Given the description of an element on the screen output the (x, y) to click on. 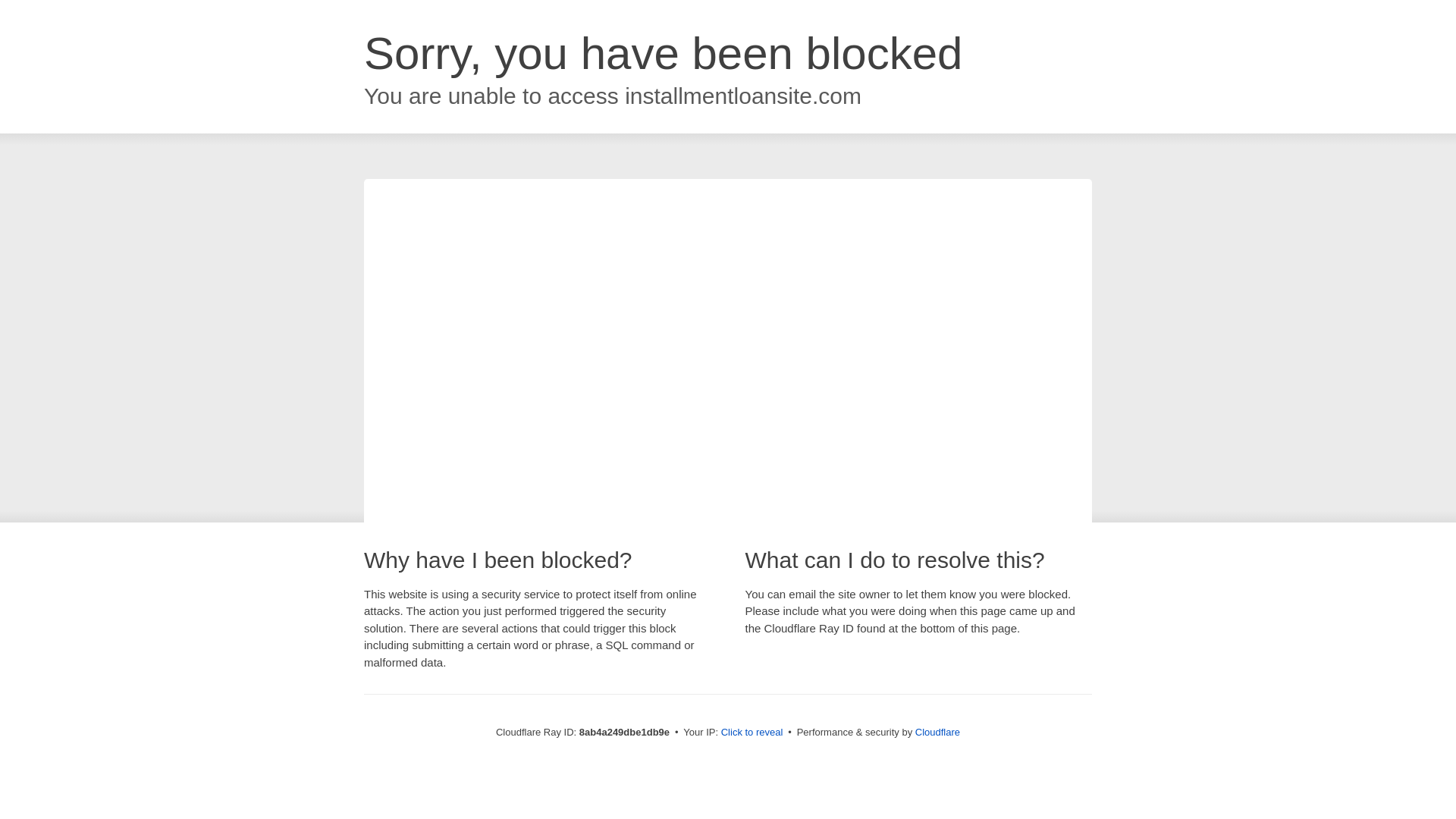
Click to reveal (751, 732)
Cloudflare (937, 731)
